Given the description of an element on the screen output the (x, y) to click on. 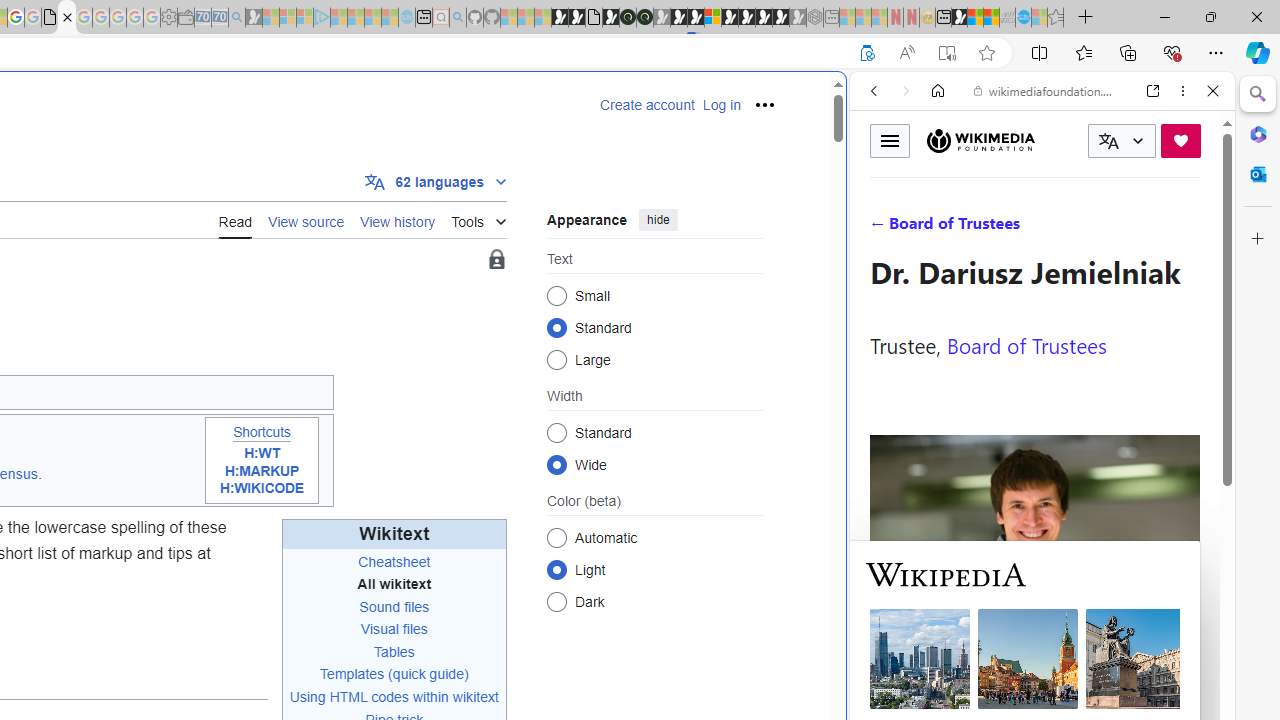
Read (235, 219)
Future Focus Report 2024 (644, 17)
H:MARKUP (262, 471)
Class: mw-list-item mw-list-item-js (654, 569)
hide (658, 219)
Tables (394, 651)
Create account (647, 105)
Tables (393, 651)
View history (397, 219)
